Given the description of an element on the screen output the (x, y) to click on. 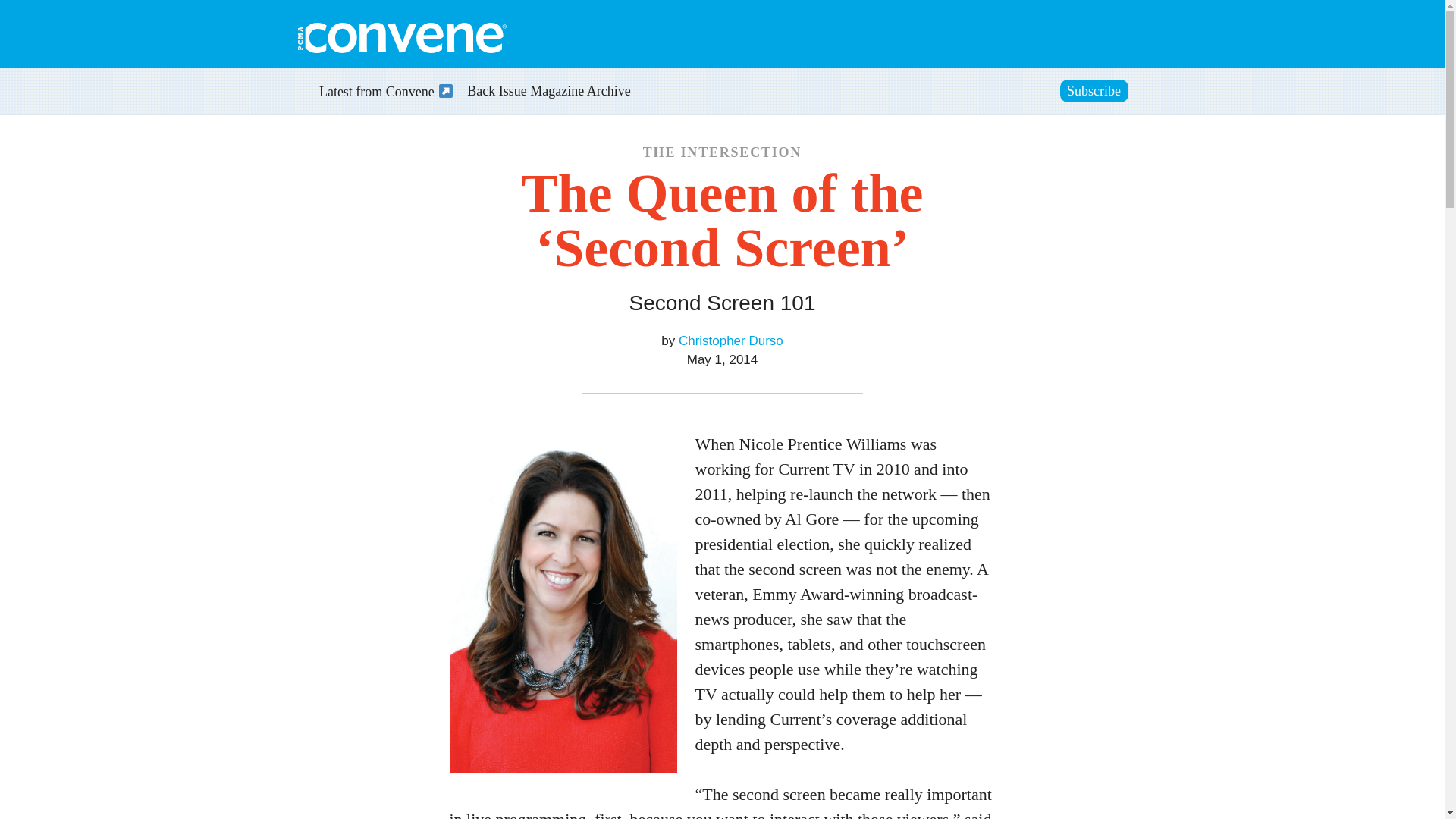
PCMA Convene (401, 37)
Posts by Christopher Durso (730, 340)
Latest from Convene (378, 92)
Subscribe (1093, 90)
PCMA CONVENE (401, 37)
Back Issue Magazine Archive (548, 92)
Christopher Durso (730, 340)
